Given the description of an element on the screen output the (x, y) to click on. 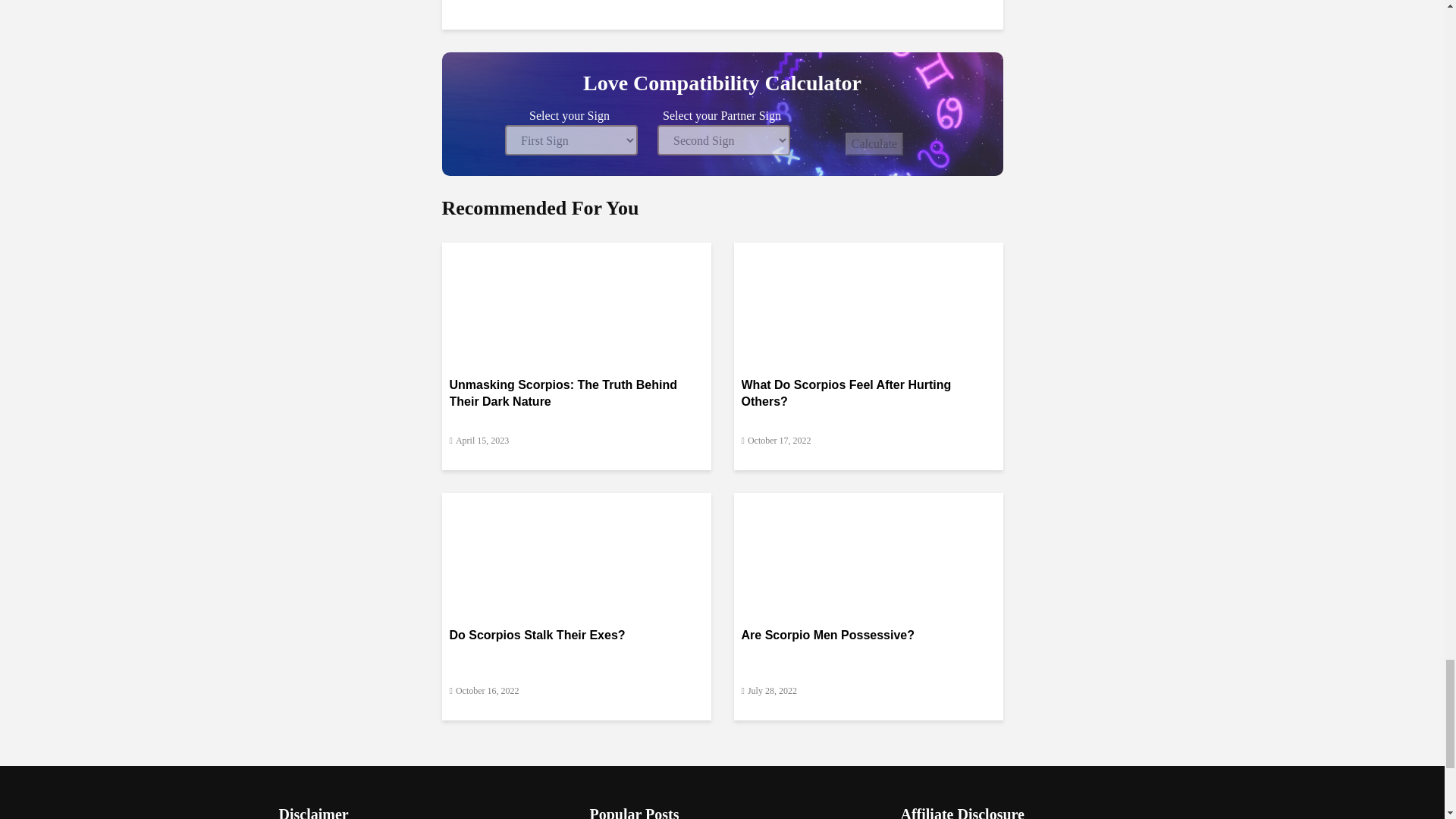
What Do Scorpios Feel After Hurting Others? (868, 299)
Unmasking Scorpios: The Truth Behind Their Dark Nature (575, 299)
Do Scorpios Stalk Their Exes? (575, 549)
Are Scorpio Men Possessive? (868, 549)
